Given the description of an element on the screen output the (x, y) to click on. 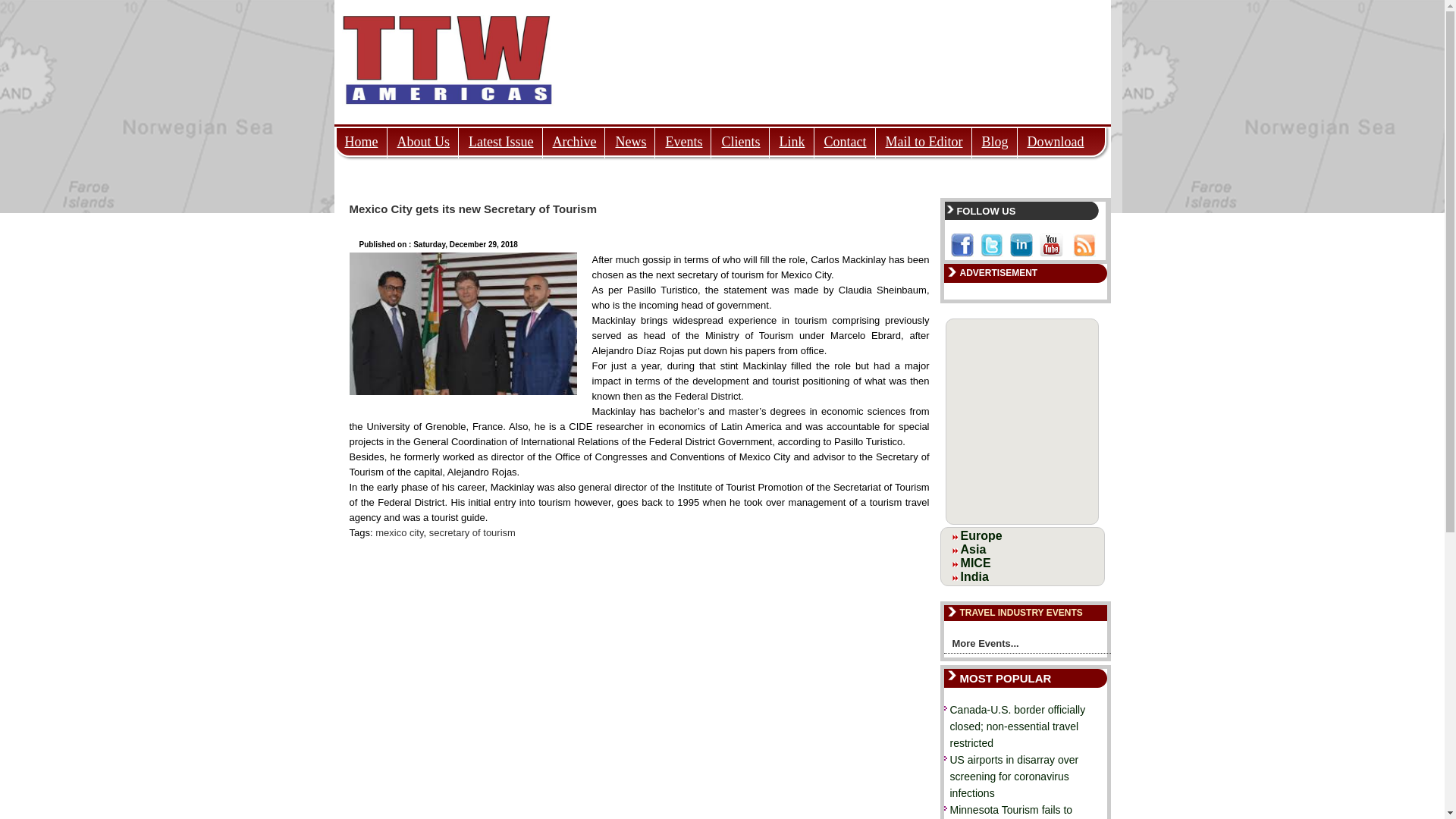
Minnesota Tourism fails to understand copper-nickel mining (1010, 811)
News (630, 137)
Blog (995, 137)
India (974, 576)
Contact (845, 137)
Asia (973, 549)
Link (791, 137)
Home (361, 137)
Archive (574, 137)
Europe (981, 535)
